Given the description of an element on the screen output the (x, y) to click on. 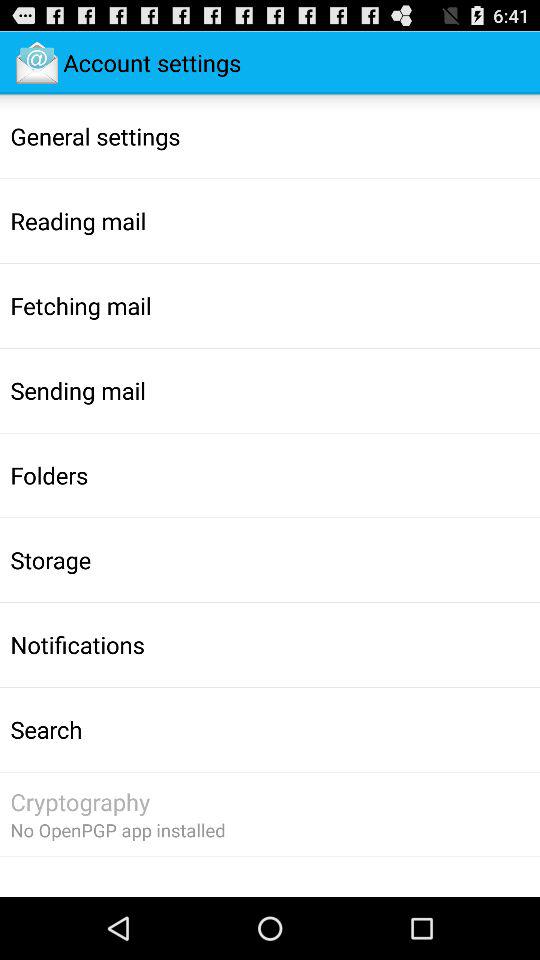
jump until the general settings (95, 136)
